Given the description of an element on the screen output the (x, y) to click on. 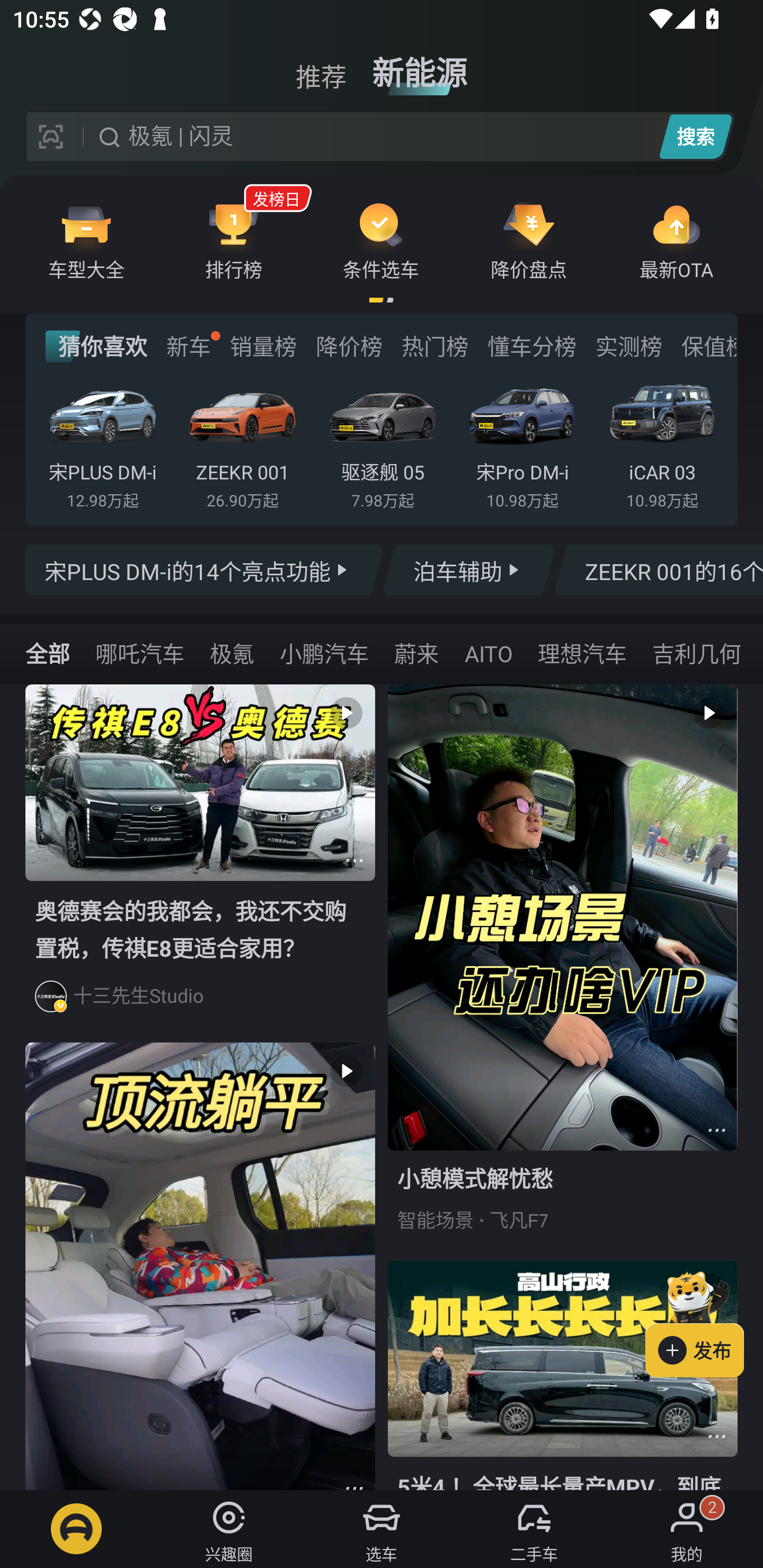
推荐 (321, 65)
新能源 (419, 65)
搜索 (695, 136)
车型大全 (86, 240)
发榜日 排行榜 (233, 240)
条件选车 (380, 240)
降价盘点 (528, 240)
最新OTA (676, 240)
猜你喜欢 (96, 346)
新车 (188, 346)
销量榜 (262, 346)
降价榜 (348, 346)
热门榜 (434, 346)
懂车分榜 (531, 346)
实测榜 (628, 346)
保值榜 (708, 346)
宋PLUS DM-i 12.98万起 (102, 442)
ZEEKR 001 26.90万起 (242, 442)
驱逐舰 05 7.98万起 (382, 442)
宋Pro DM-i 10.98万起 (522, 442)
iCAR 03 10.98万起 (662, 442)
宋PLUS DM-i的14个亮点功能 (204, 569)
泊车辅助 (468, 569)
ZEEKR 001的16个亮点功能 (658, 569)
全部 (47, 652)
哪吒汽车 (139, 652)
极氪 (231, 652)
小鹏汽车 (324, 652)
蔚来 (416, 652)
AITO (487, 652)
理想汽车 (581, 652)
吉利几何 (696, 652)
  奥德赛会的我都会，我还不交购置税，传祺E8更适合家用？ 十三先生Studio (200, 862)
  小憩模式解忧愁 智能场景 飞凡F7 (562, 971)
 (354, 860)
  (200, 1265)
 (716, 1130)
飞凡F7 (518, 1220)
  5米4 ！全球最长量产MPV，到底好不好开？ (562, 1374)
发布 (704, 1320)
 (716, 1436)
 兴趣圈 (228, 1528)
 选车 (381, 1528)
 二手车 (533, 1528)
 我的 (686, 1528)
